Given the description of an element on the screen output the (x, y) to click on. 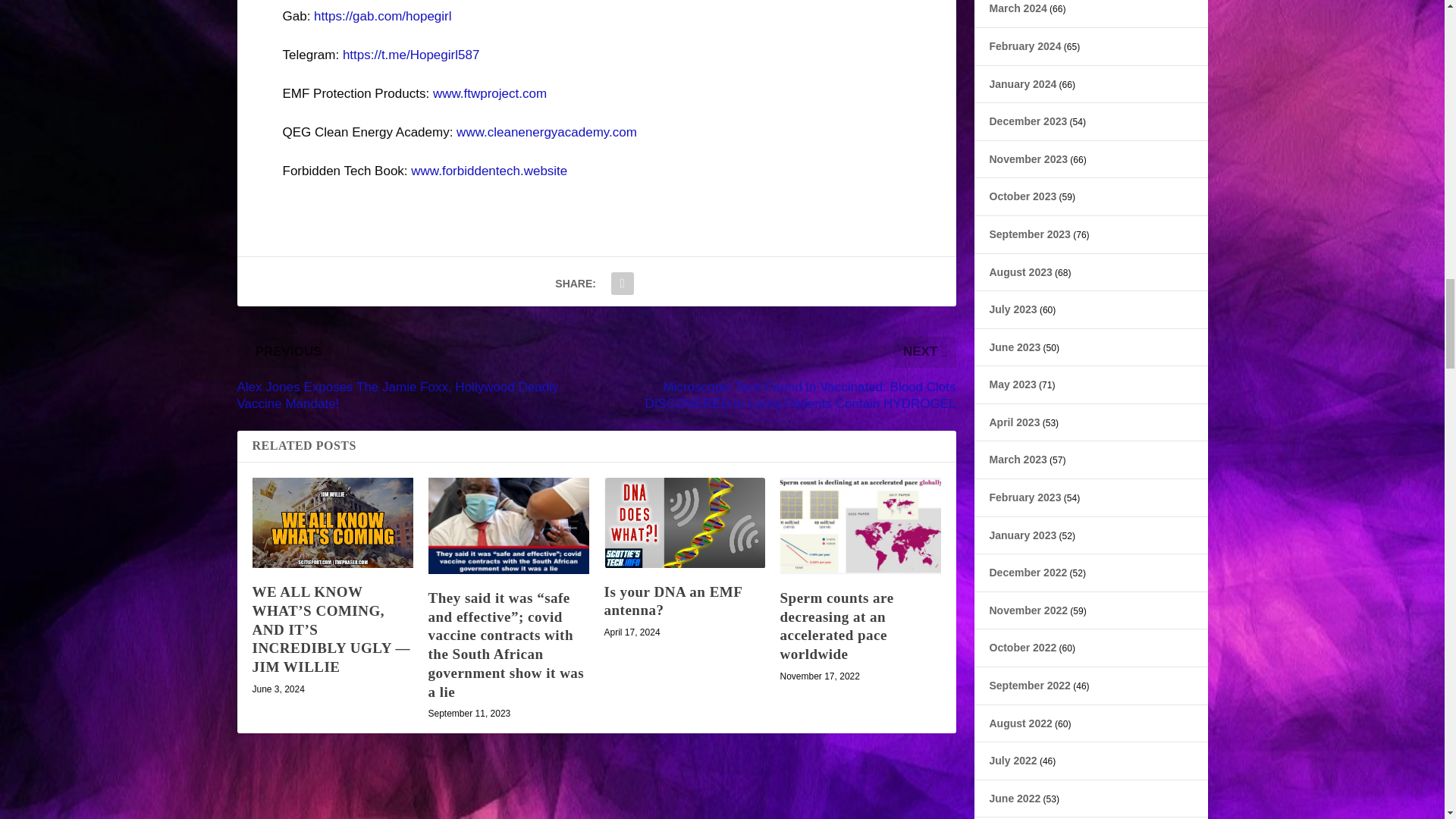
www.forbiddentech.website (488, 170)
www.cleanenergyacademy.com (547, 132)
Is your DNA an EMF antenna? (684, 522)
www.ftwproject.com (489, 93)
Sperm counts are decreasing at an accelerated pace worldwide (859, 525)
